Given the description of an element on the screen output the (x, y) to click on. 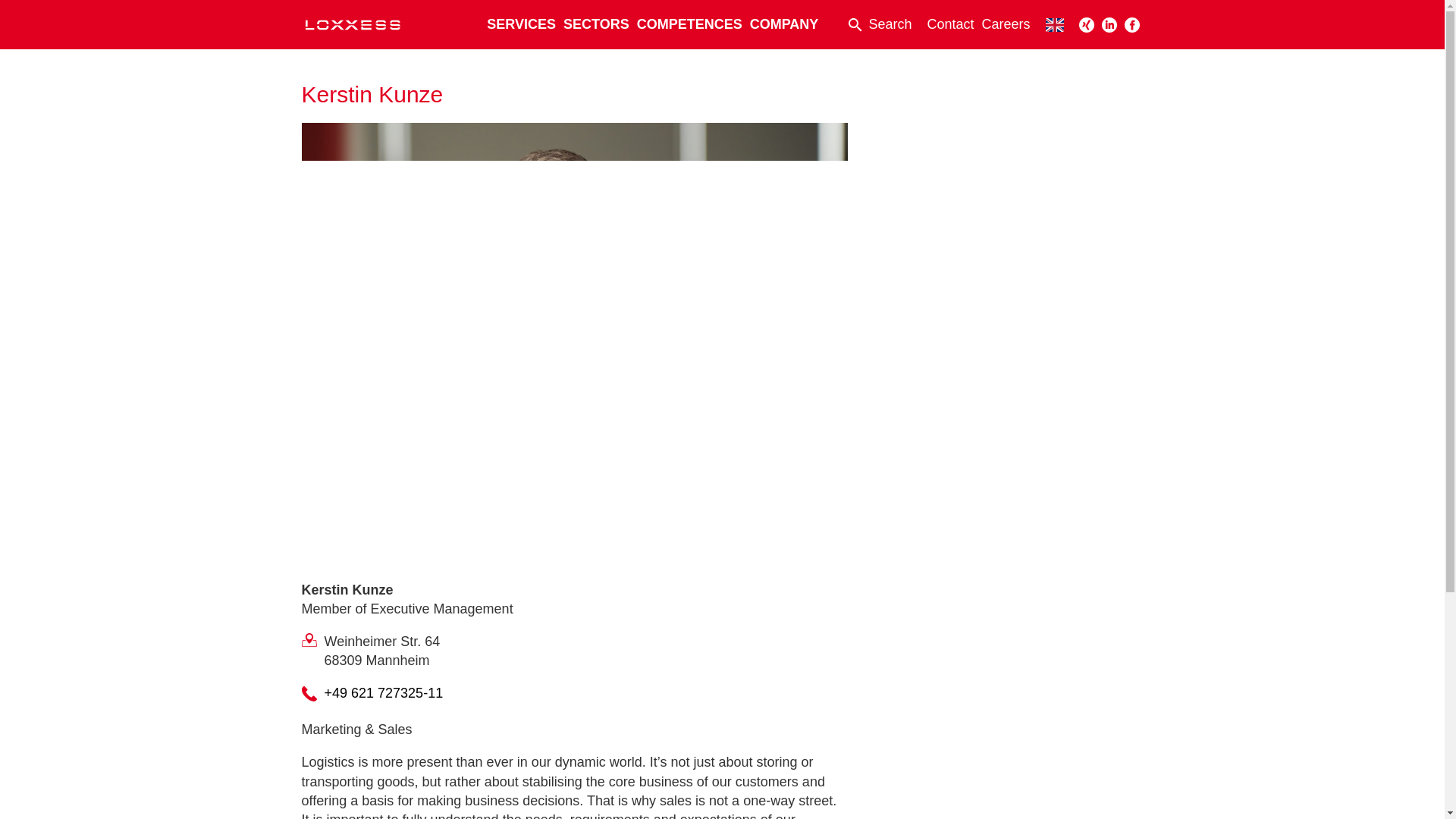
SERVICES (521, 24)
COMPETENCES (689, 24)
Open Cookie Preferences (32, 798)
COMPANY (783, 24)
SECTORS (595, 24)
